Given the description of an element on the screen output the (x, y) to click on. 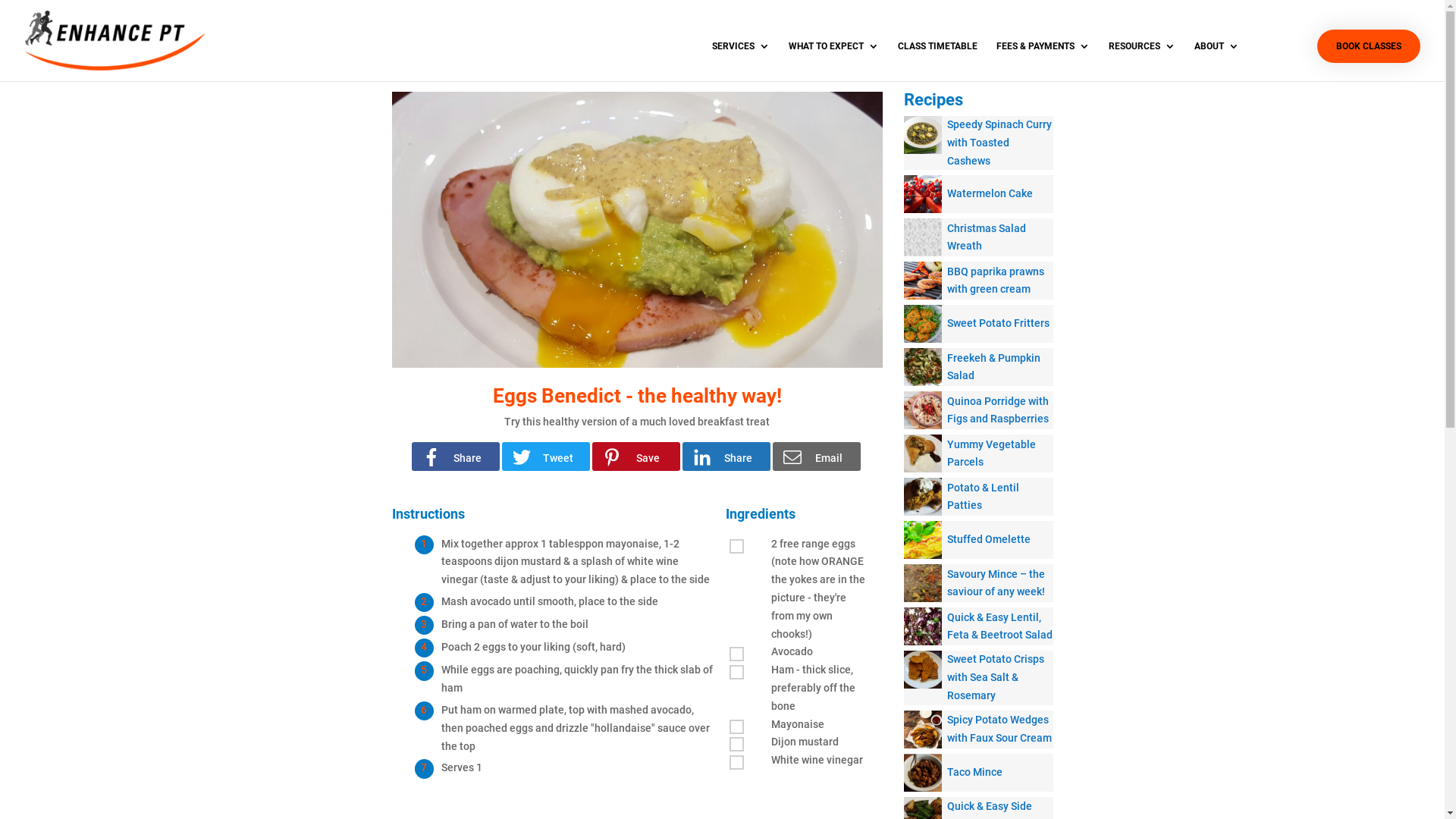
ABOUT Element type: text (1216, 60)
Speedy Spinach Curry with Toasted Cashews Element type: text (978, 142)
Save Element type: text (635, 456)
Stuffed Omelette Element type: text (978, 539)
Yummy Vegetable Parcels Element type: text (978, 453)
CONTACT Element type: text (1278, 60)
Email Element type: text (815, 456)
Share Element type: text (726, 456)
Christmas Salad Wreath Element type: text (978, 237)
FEES & PAYMENTS Element type: text (1042, 60)
WHAT TO EXPECT Element type: text (833, 60)
Tweet Element type: text (545, 456)
Sweet Potato Fritters Element type: text (978, 323)
Watermelon Cake Element type: text (978, 194)
Potato & Lentil Patties Element type: text (978, 496)
Quick & Easy Lentil, Feta & Beetroot Salad Element type: text (978, 626)
Sweet Potato Crisps with Sea Salt & Rosemary Element type: text (978, 677)
CLASS TIMETABLE Element type: text (937, 60)
Taco Mince Element type: text (978, 772)
BBQ paprika prawns with green cream Element type: text (978, 280)
BOOK CLASSES Element type: text (1368, 45)
Quinoa Porridge with Figs and Raspberries Element type: text (978, 410)
Spicy Potato Wedges with Faux Sour Cream Element type: text (978, 729)
RESOURCES Element type: text (1141, 60)
Freekeh & Pumpkin Salad Element type: text (978, 366)
Share Element type: text (454, 456)
SERVICES Element type: text (740, 60)
